Given the description of an element on the screen output the (x, y) to click on. 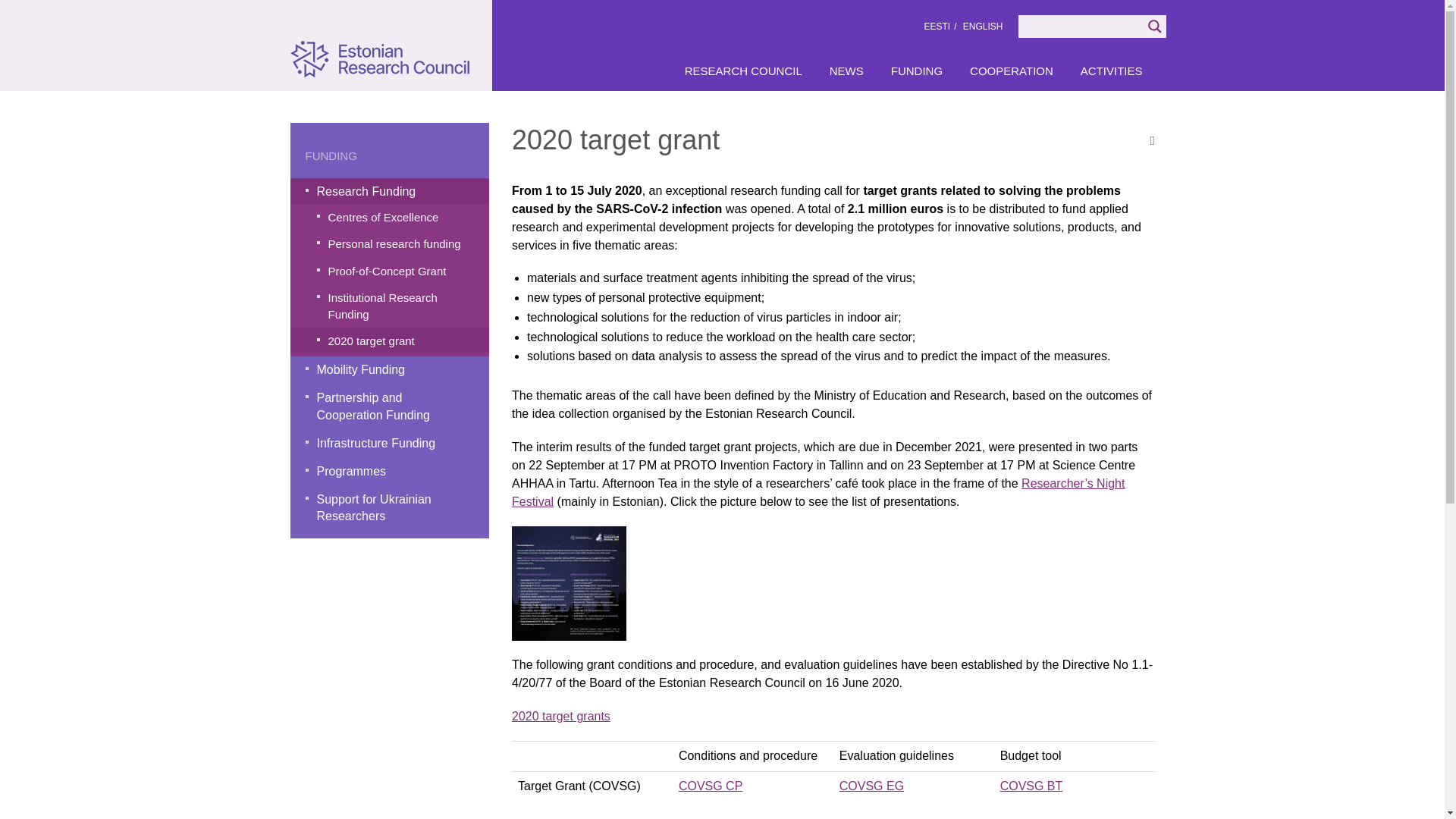
NEWS (846, 71)
Funding (916, 71)
News (846, 71)
FUNDING (916, 71)
COOPERATION (1011, 71)
EESTI (936, 26)
RESEARCH COUNCIL (743, 71)
ENGLISH (982, 26)
Research Council (743, 71)
ACTIVITIES (1111, 71)
